Given the description of an element on the screen output the (x, y) to click on. 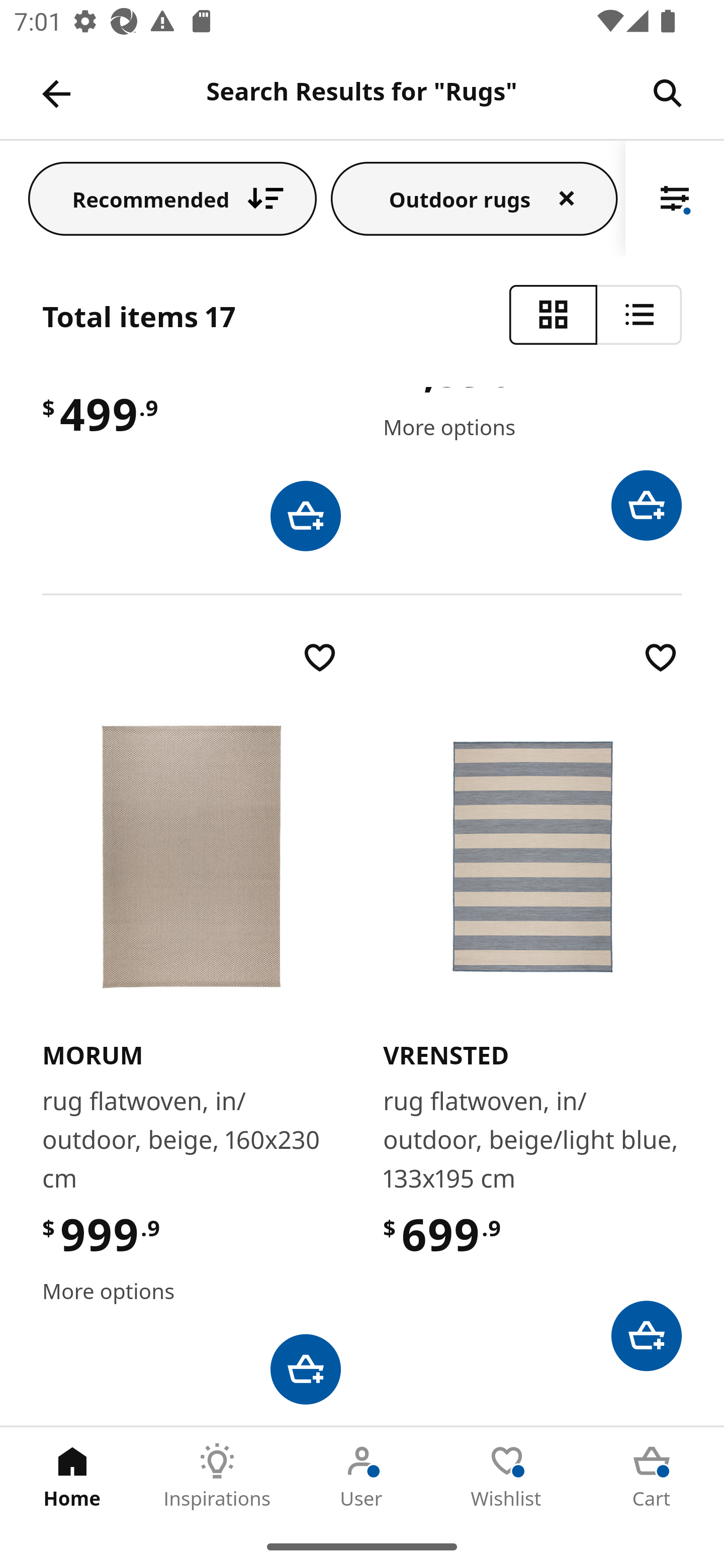
Recommended (172, 198)
Outdoor rugs (473, 198)
Home
Tab 1 of 5 (72, 1476)
Inspirations
Tab 2 of 5 (216, 1476)
User
Tab 3 of 5 (361, 1476)
Wishlist
Tab 4 of 5 (506, 1476)
Cart
Tab 5 of 5 (651, 1476)
